Given the description of an element on the screen output the (x, y) to click on. 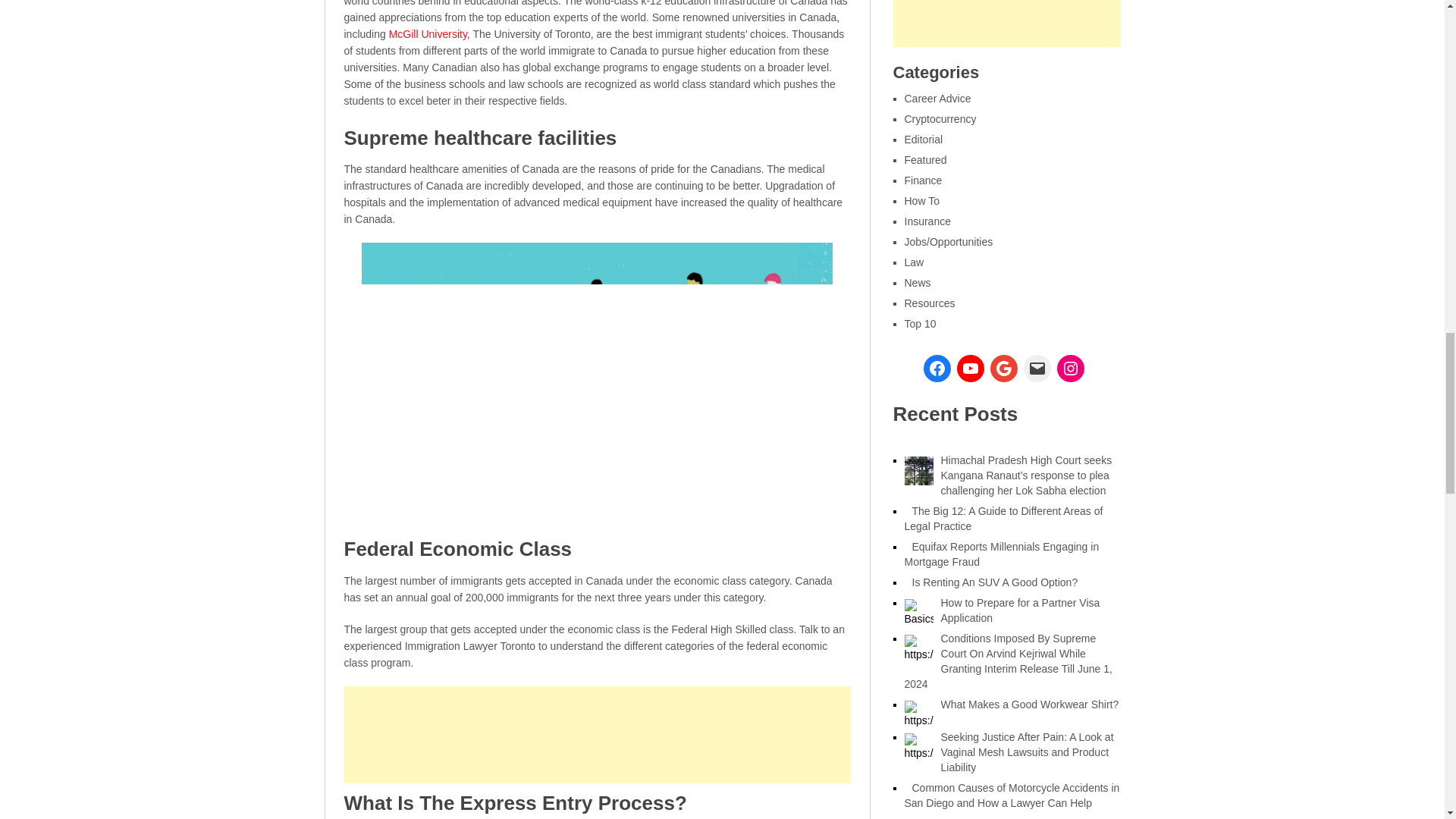
McGill University (427, 33)
Cryptocurrency (939, 119)
Finance (923, 180)
Career Advice (937, 98)
Featured (925, 159)
How To (921, 200)
Editorial (923, 139)
